Given the description of an element on the screen output the (x, y) to click on. 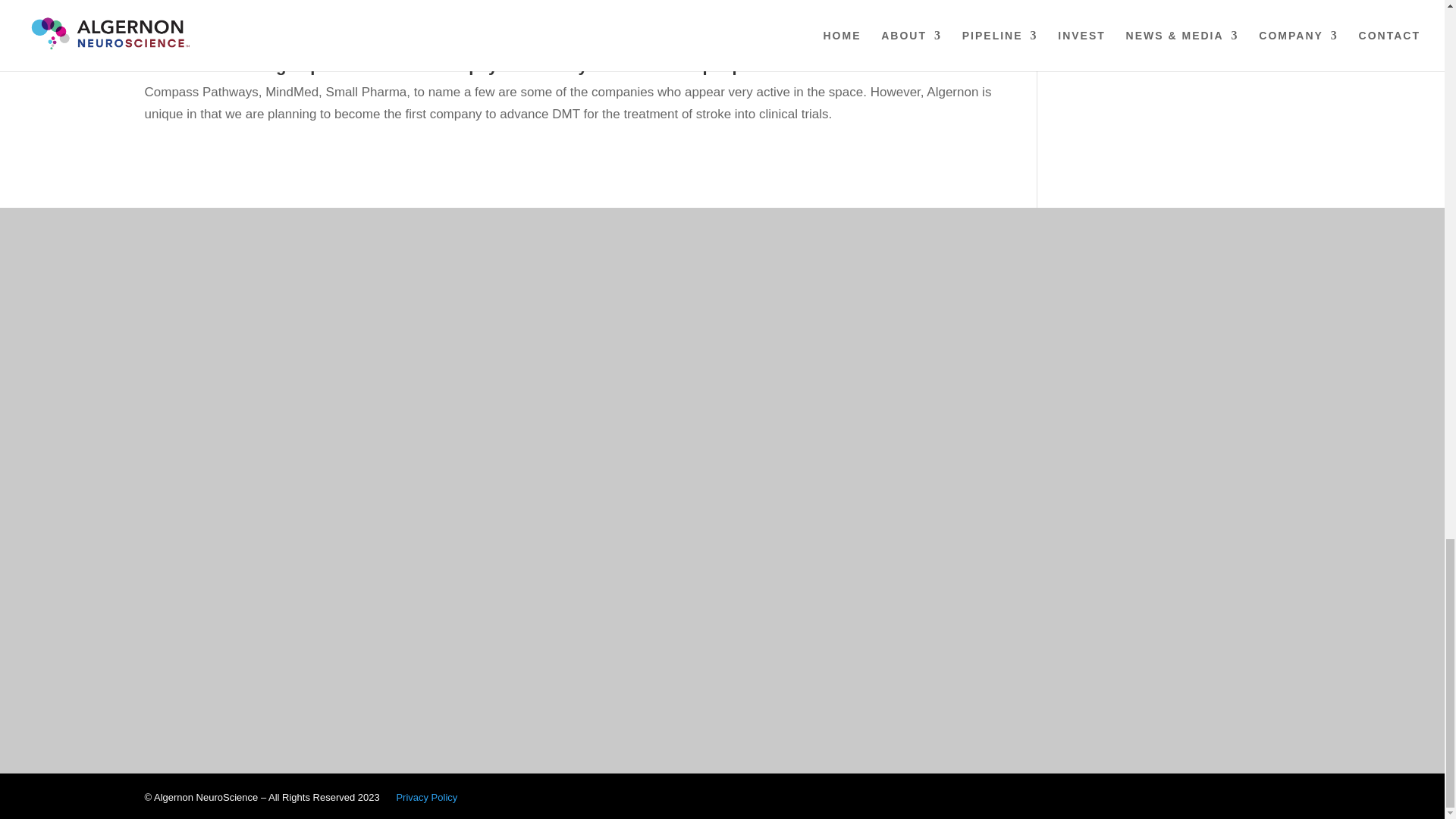
Privacy Policy (426, 797)
